Given the description of an element on the screen output the (x, y) to click on. 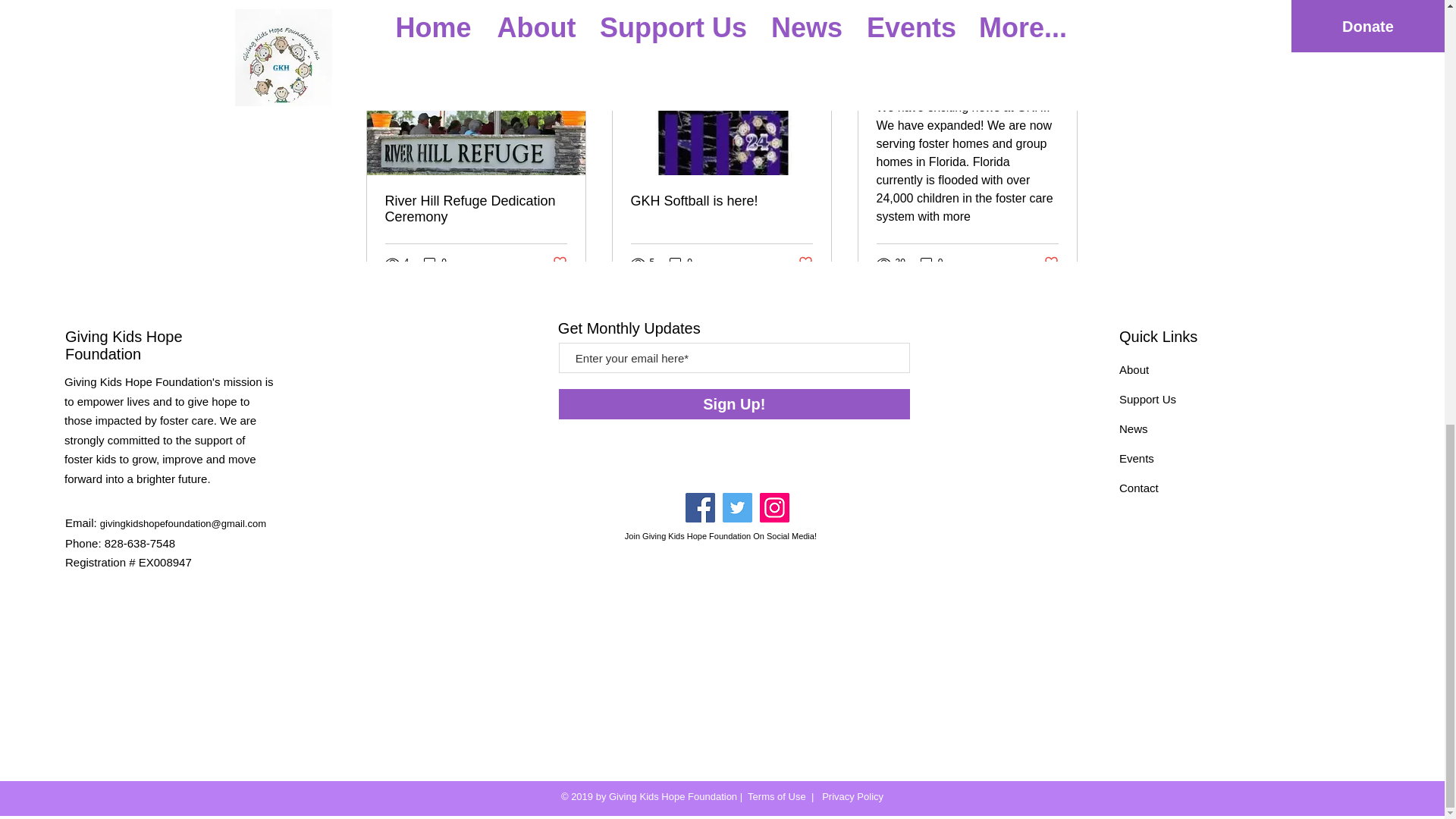
0 (931, 262)
River Hill Refuge Dedication Ceremony (476, 209)
About (1133, 369)
GKH is GROWING! (967, 78)
0 (435, 262)
Support Us (1147, 399)
Post not marked as liked (1050, 261)
Events (1136, 458)
Post not marked as liked (558, 261)
Post not marked as liked (804, 261)
